Given the description of an element on the screen output the (x, y) to click on. 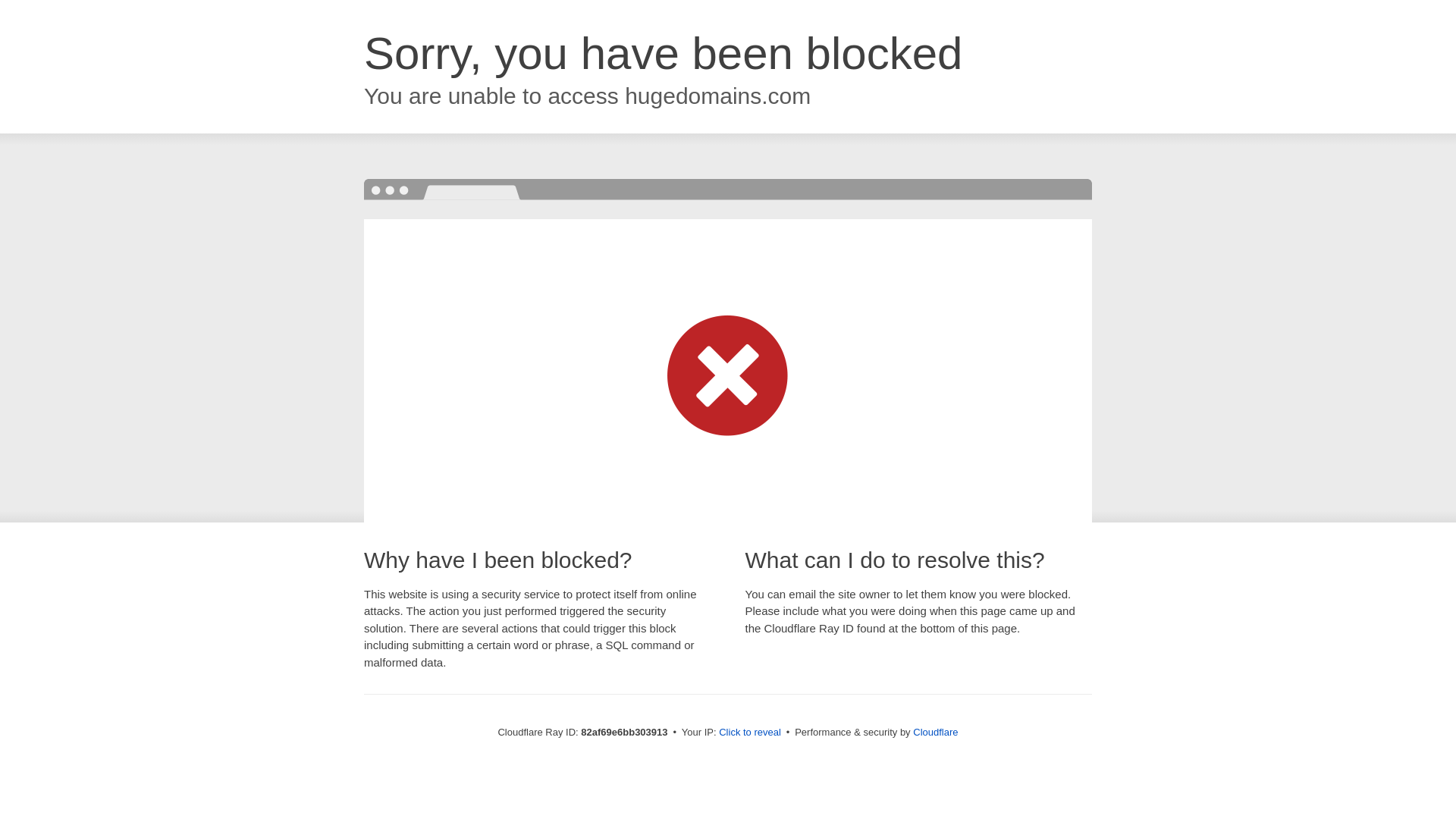
Cloudflare Element type: text (935, 731)
Click to reveal Element type: text (749, 732)
